Given the description of an element on the screen output the (x, y) to click on. 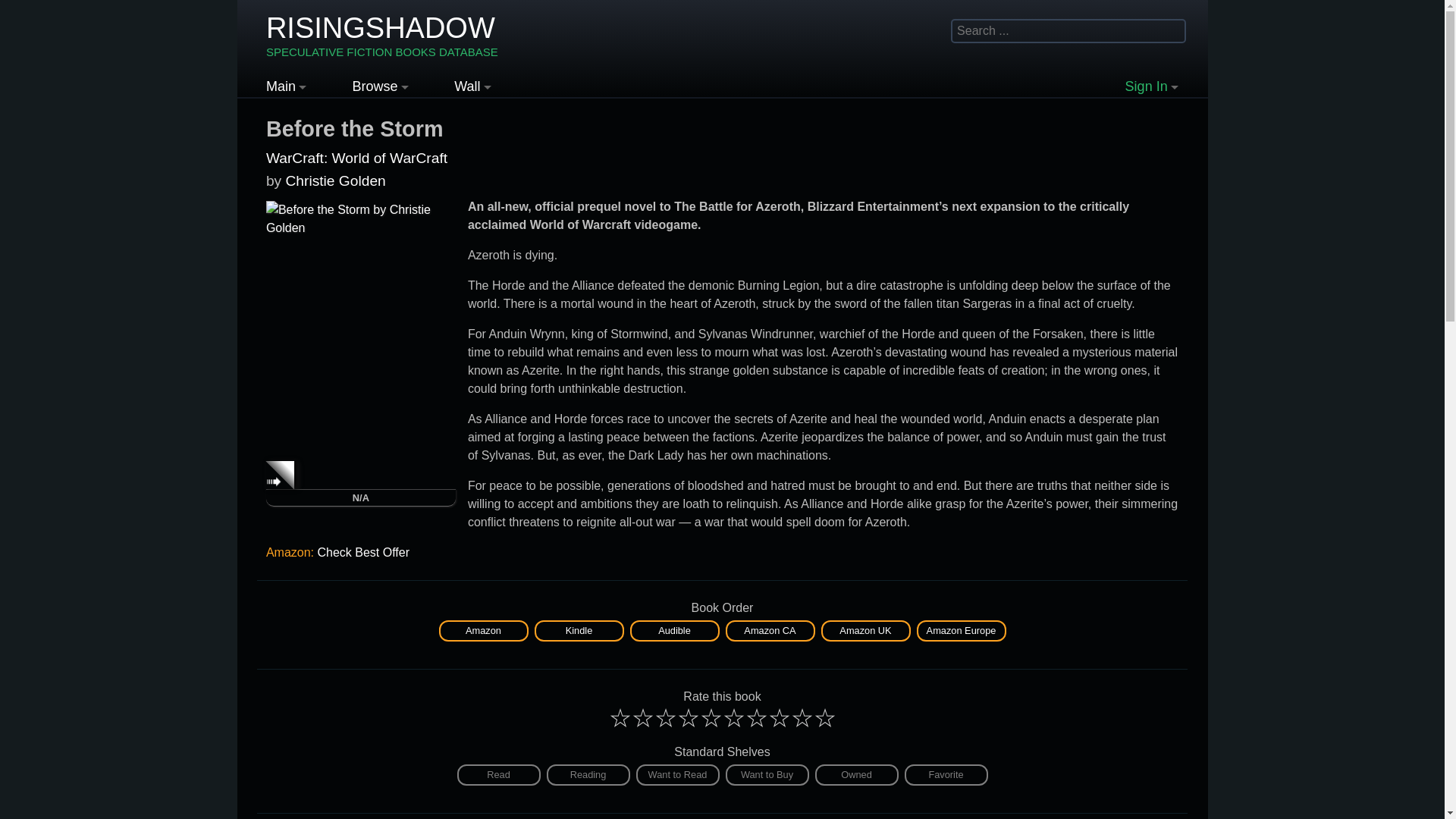
Amazon CA (769, 629)
Owned (855, 774)
WarCraft: World of WarCraft (356, 157)
Amazon (483, 629)
Amazon UK (864, 629)
Reading (587, 774)
Read (498, 774)
Read (498, 774)
Audible (674, 629)
Risingshadow (381, 36)
Reading (587, 774)
Want to Read (676, 774)
Owned (855, 774)
Want to Buy (766, 774)
